Given the description of an element on the screen output the (x, y) to click on. 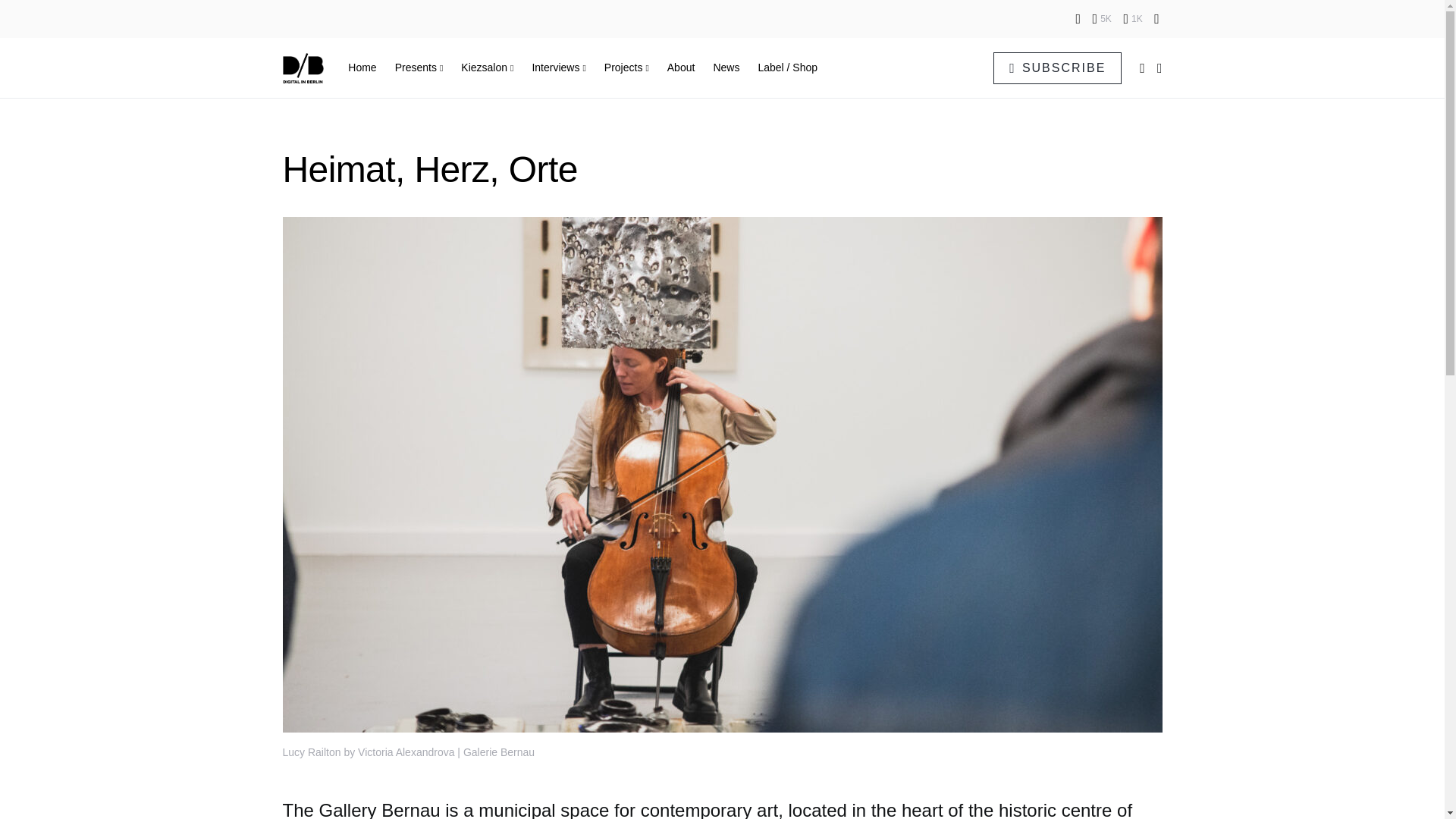
View your shopping cart (1142, 68)
Home (366, 67)
5K (1102, 18)
1K (1131, 18)
